Given the description of an element on the screen output the (x, y) to click on. 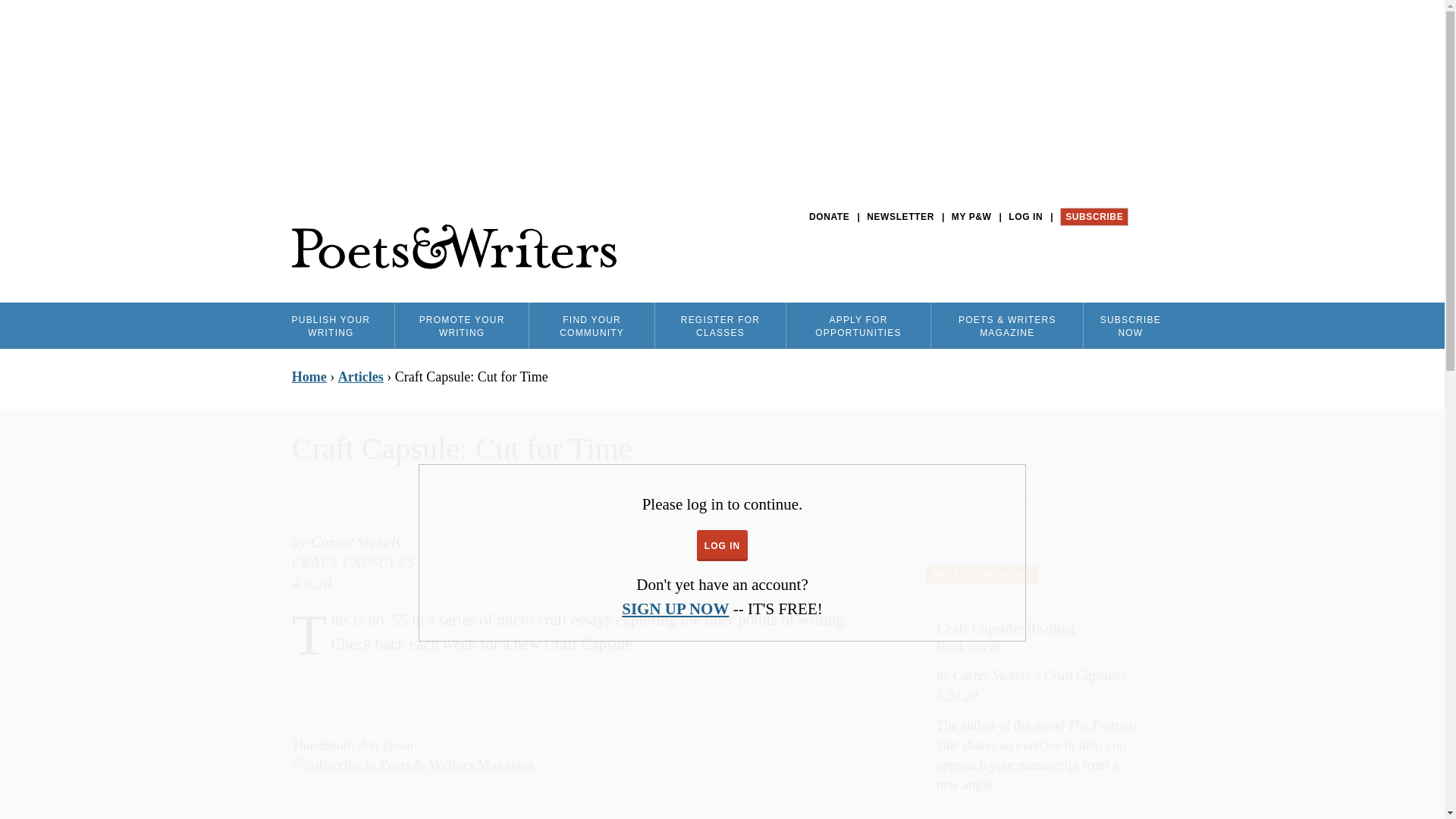
SUBSCRIBE (1093, 217)
PROMOTE YOUR WRITING (461, 325)
Publish Your Writing (330, 325)
PUBLISH YOUR WRITING (330, 325)
Home (453, 246)
LOG IN (1025, 216)
NEWSLETTER (900, 216)
DONATE (828, 216)
